Given the description of an element on the screen output the (x, y) to click on. 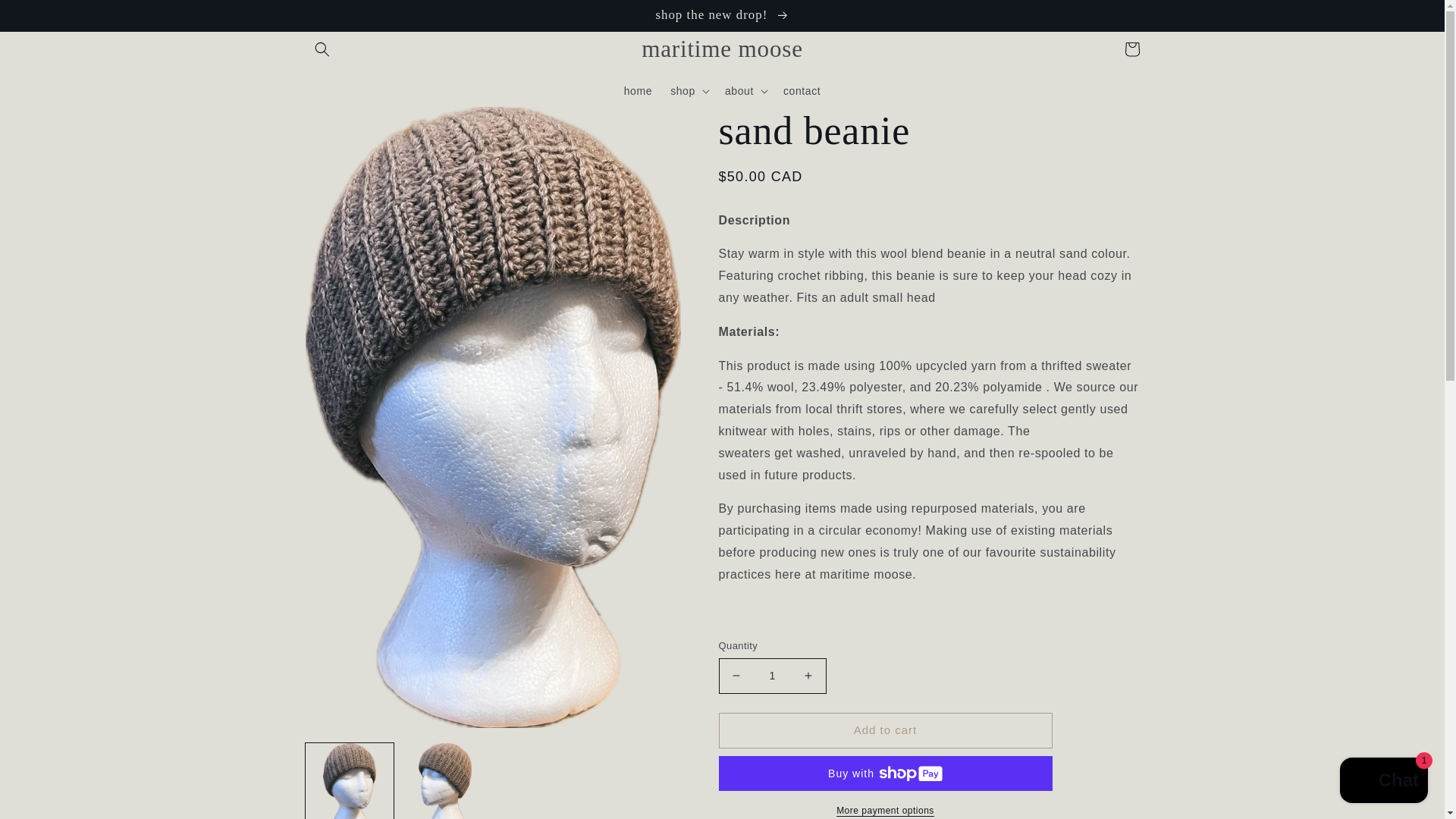
Shopify online store chat (1383, 781)
maritime moose (722, 48)
Skip to content (45, 17)
1 (773, 675)
home (637, 90)
